Given the description of an element on the screen output the (x, y) to click on. 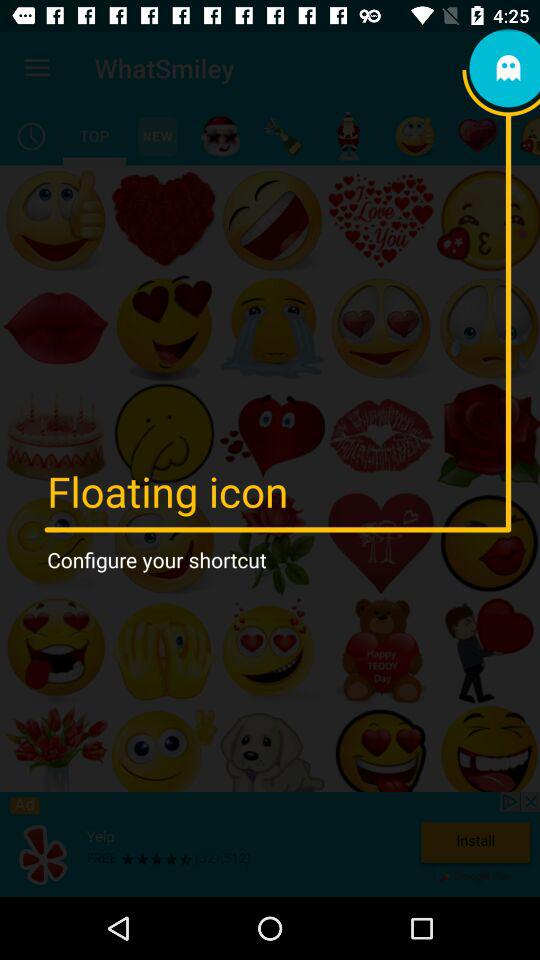
choose icon below whatsmiley item (157, 136)
